Given the description of an element on the screen output the (x, y) to click on. 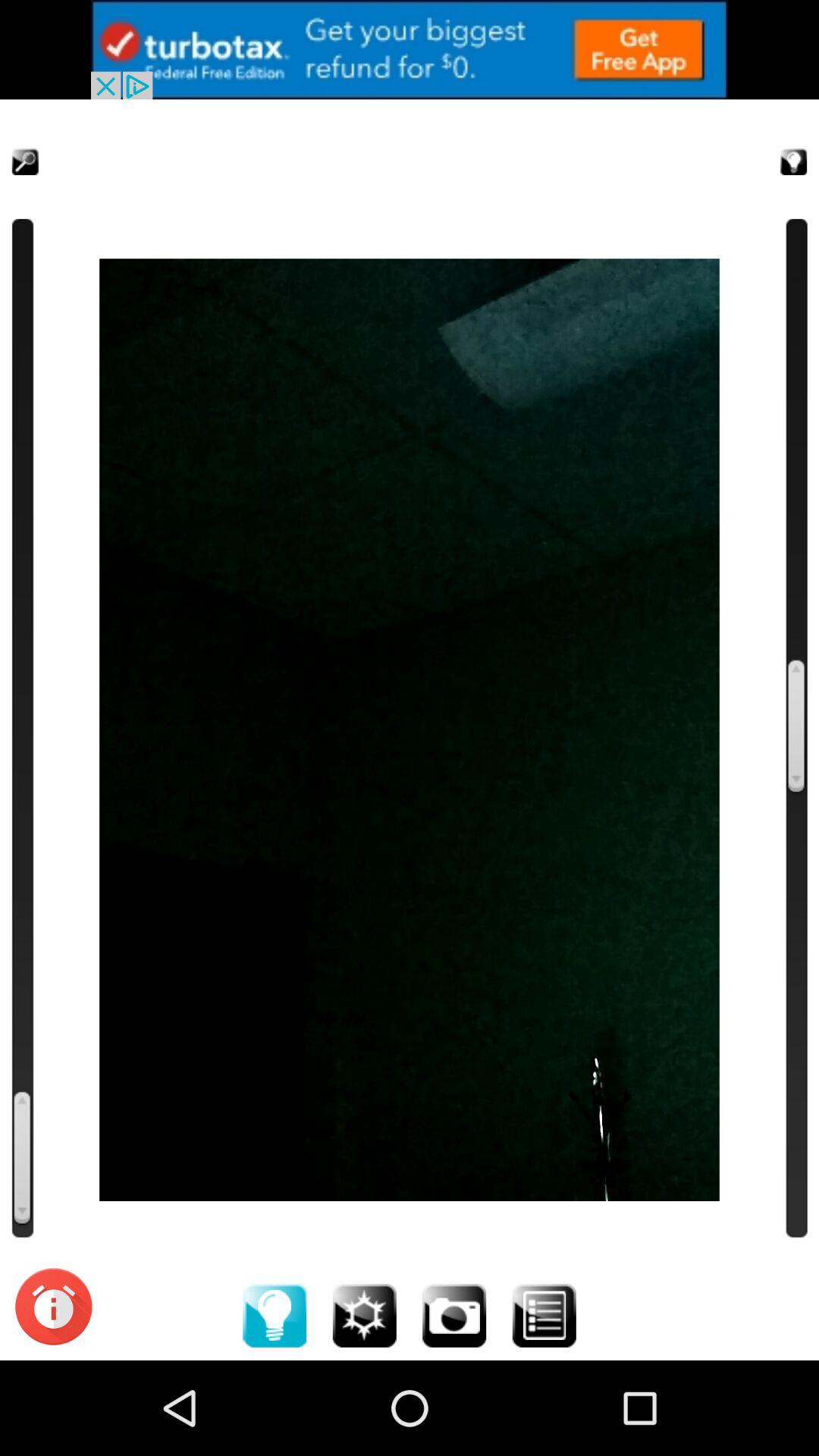
flash (364, 1315)
